Given the description of an element on the screen output the (x, y) to click on. 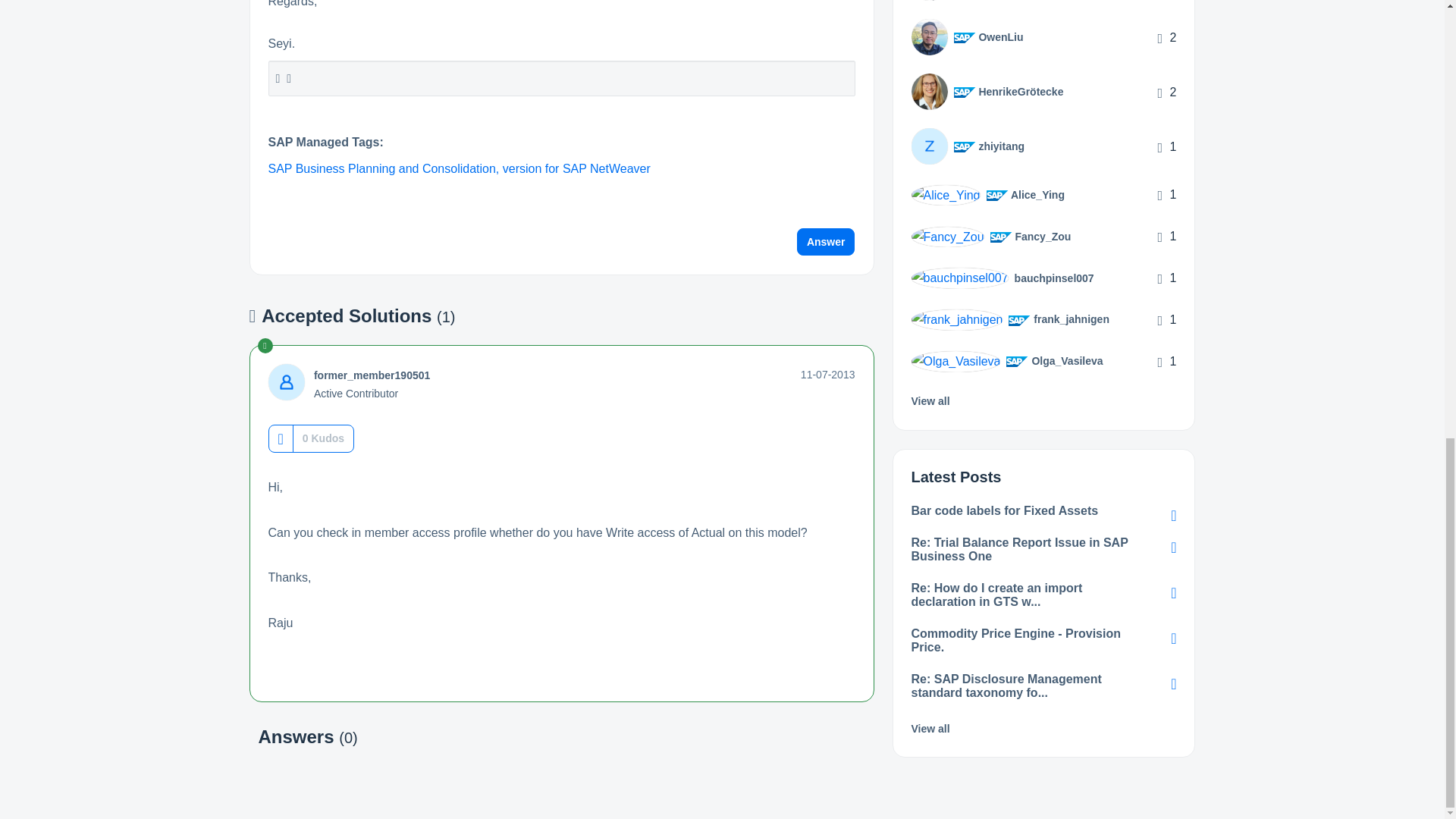
Answer (826, 241)
